Given the description of an element on the screen output the (x, y) to click on. 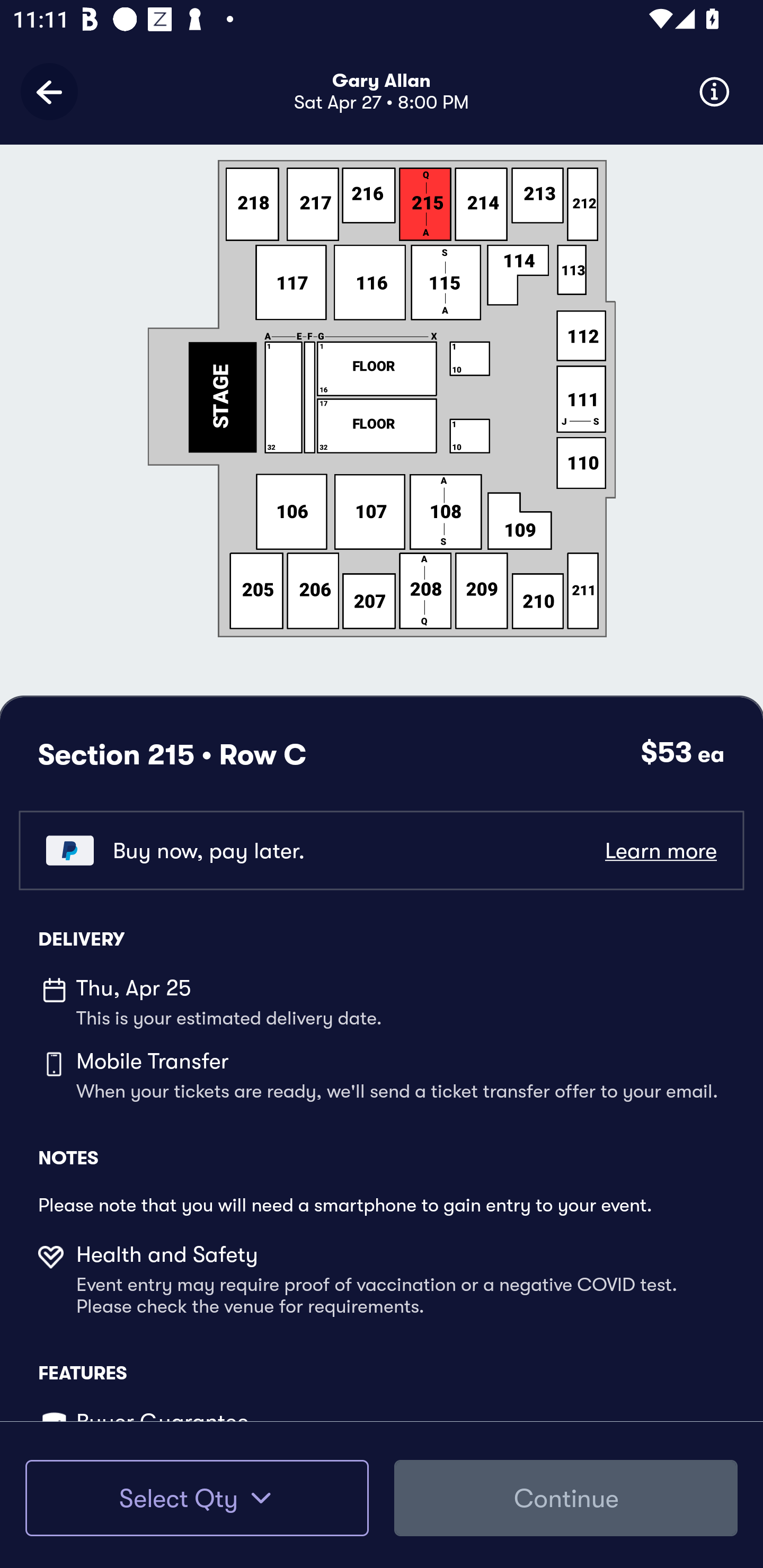
Learn more (660, 850)
Select Qty (196, 1497)
Continue (565, 1497)
